Given the description of an element on the screen output the (x, y) to click on. 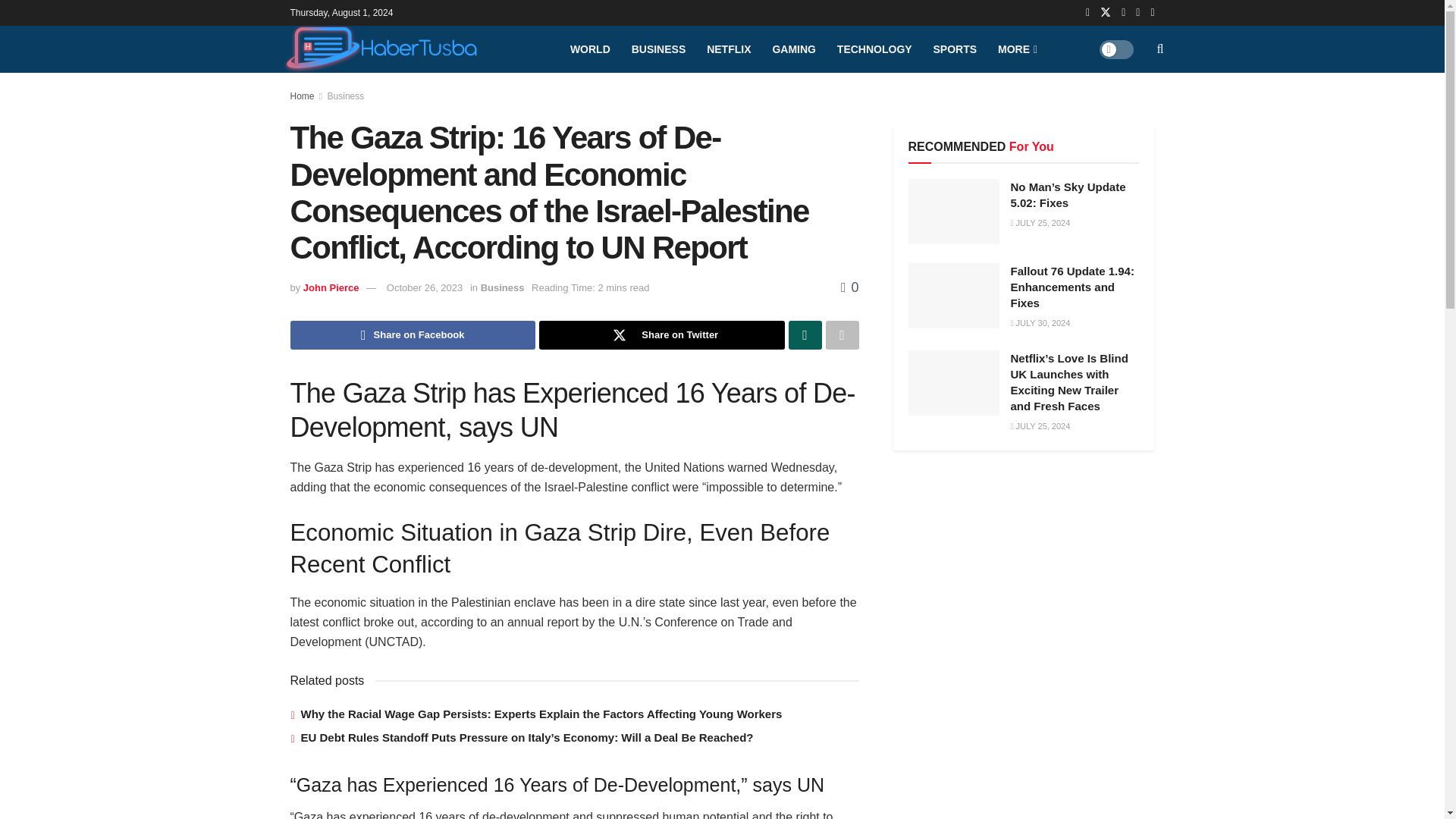
John Pierce (330, 287)
0 (850, 287)
GAMING (793, 48)
MORE (1015, 48)
BUSINESS (659, 48)
WORLD (590, 48)
SPORTS (954, 48)
Share on Facebook (412, 335)
Business (346, 95)
Home (301, 95)
Business (502, 287)
TECHNOLOGY (874, 48)
October 26, 2023 (425, 287)
NETFLIX (728, 48)
